Given the description of an element on the screen output the (x, y) to click on. 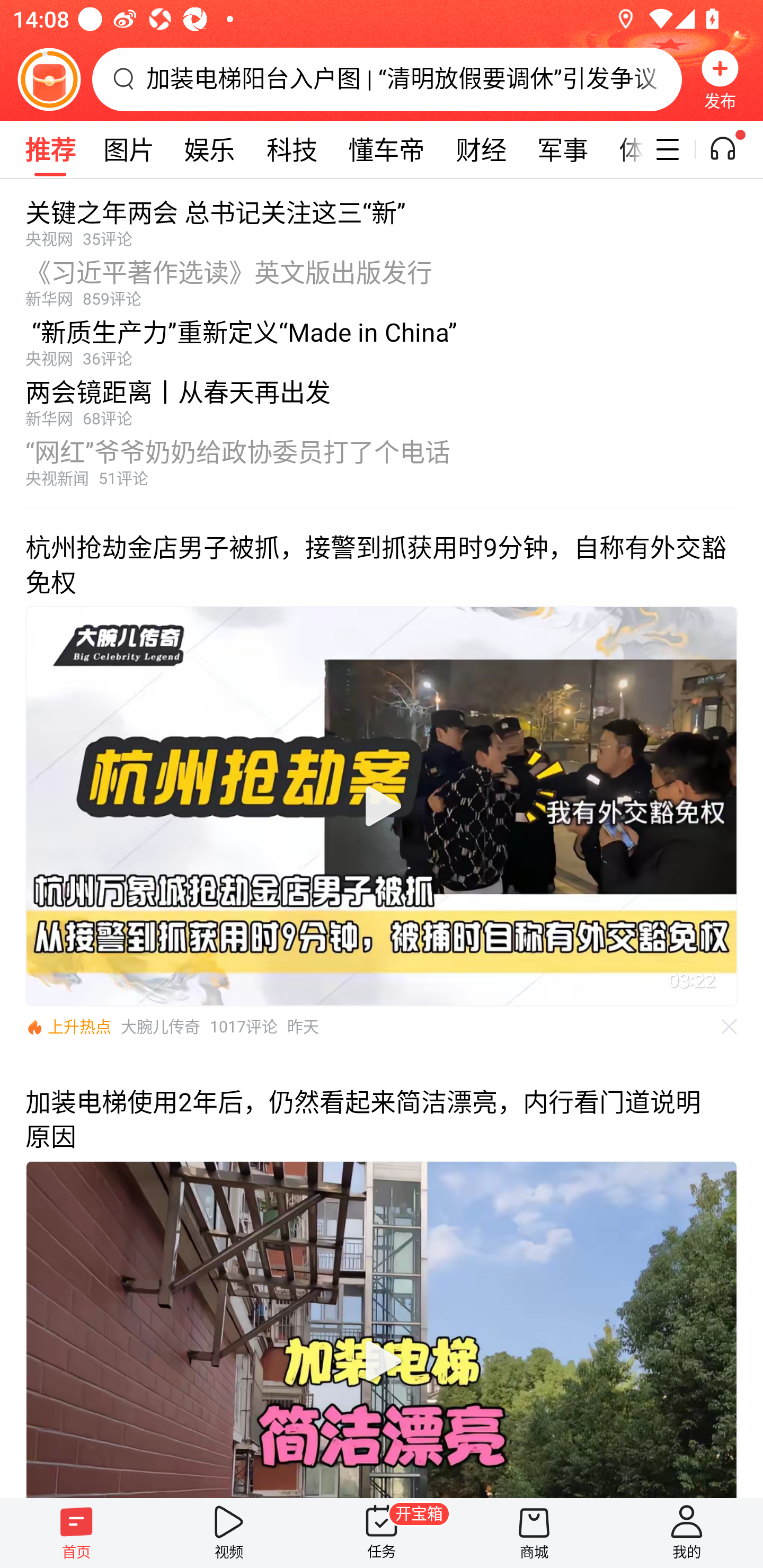
阅读赚金币 (48, 79)
发布 发布，按钮 (720, 78)
畅听 (48, 149)
图片 (128, 149)
娱乐 (209, 149)
科技 (291, 149)
懂车帝 (386, 149)
财经 (480, 149)
军事 (562, 149)
听一听开关 (732, 149)
两会镜距离丨从春天再出发新华网68评论 文章 两会镜距离丨从春天再出发 新华网68评论 (381, 398)
播放视频 视频播放器，双击屏幕打开播放控制 (381, 805)
播放视频 (381, 806)
不感兴趣 (729, 1026)
播放视频 视频播放器，双击屏幕打开播放控制 (381, 1328)
播放视频 (381, 1360)
首页 (76, 1532)
视频 (228, 1532)
任务 开宝箱 (381, 1532)
商城 (533, 1532)
我的 (686, 1532)
